Given the description of an element on the screen output the (x, y) to click on. 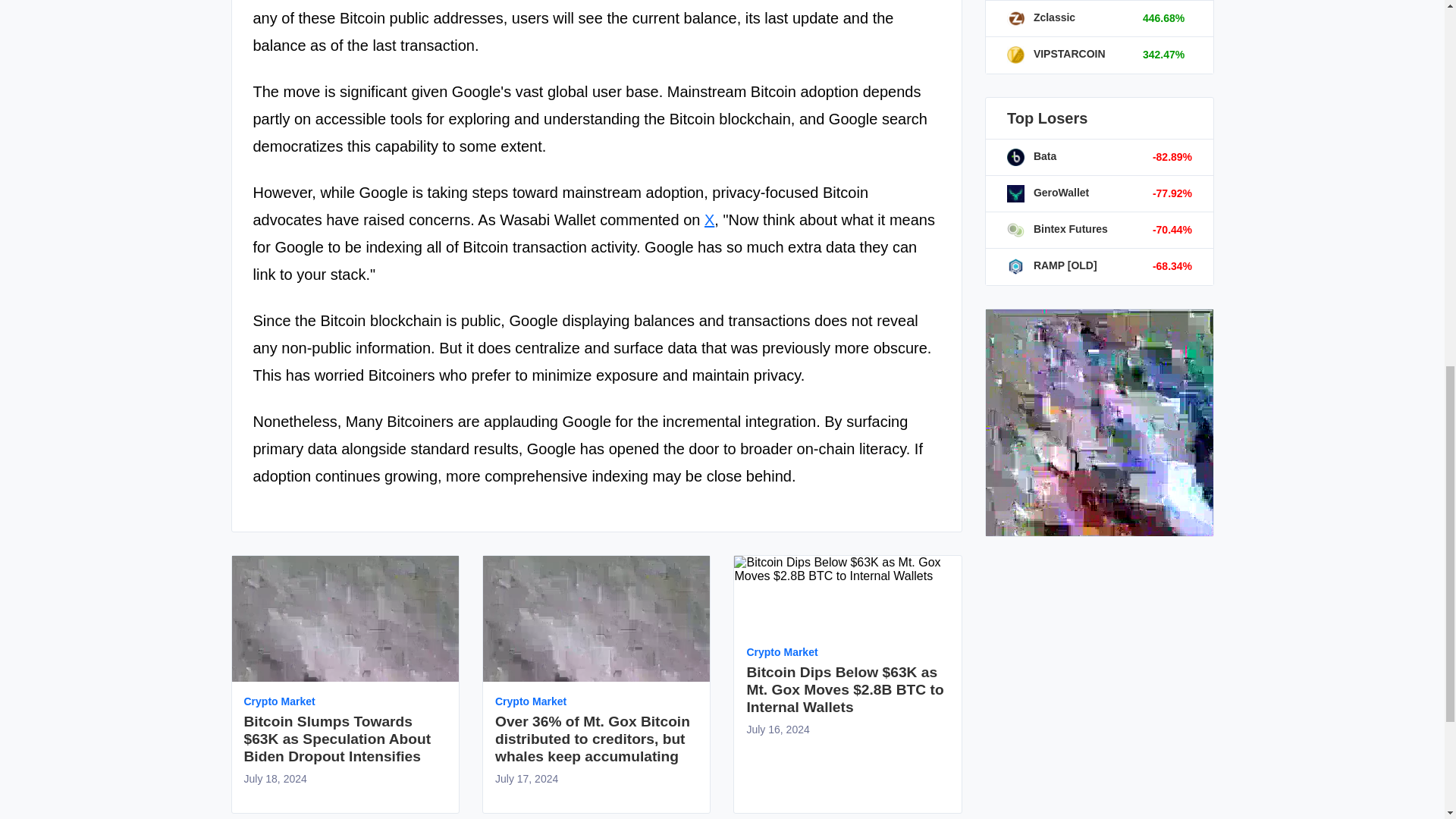
Crypto Market (530, 701)
Crypto Market (530, 701)
Crypto Market (780, 652)
X (709, 219)
Zclassic (1041, 17)
Crypto Market (279, 701)
VIPSTARCOIN (1056, 53)
Bintex Futures (1057, 228)
Bata (1032, 155)
Crypto Market (780, 652)
GeroWallet (1048, 192)
Crypto Market (279, 701)
